Given the description of an element on the screen output the (x, y) to click on. 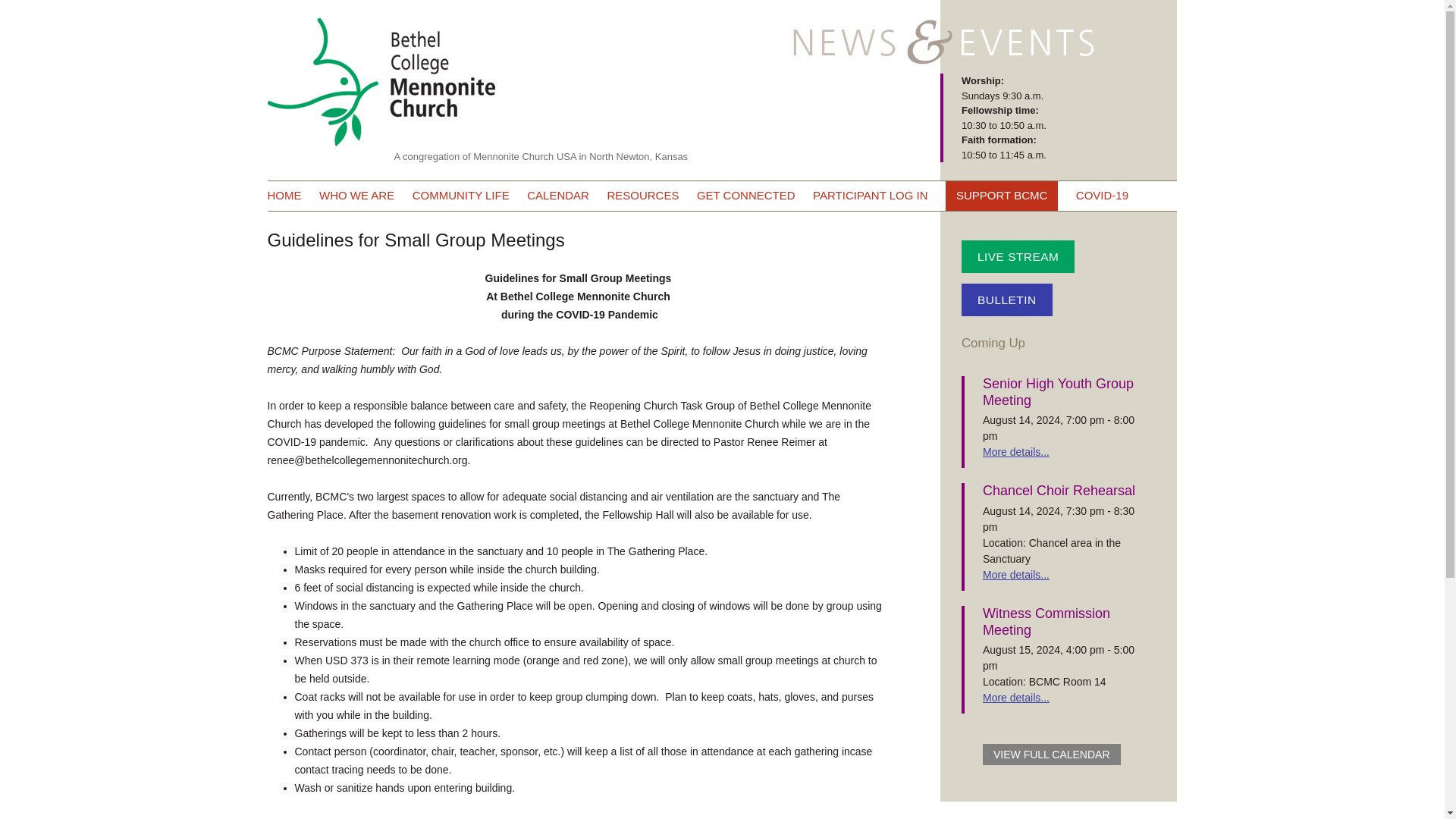
WHO WE ARE (356, 195)
COMMUNITY LIFE (460, 195)
support (1001, 195)
HOME (283, 195)
Skip to content (757, 185)
Skip to content (757, 185)
